Given the description of an element on the screen output the (x, y) to click on. 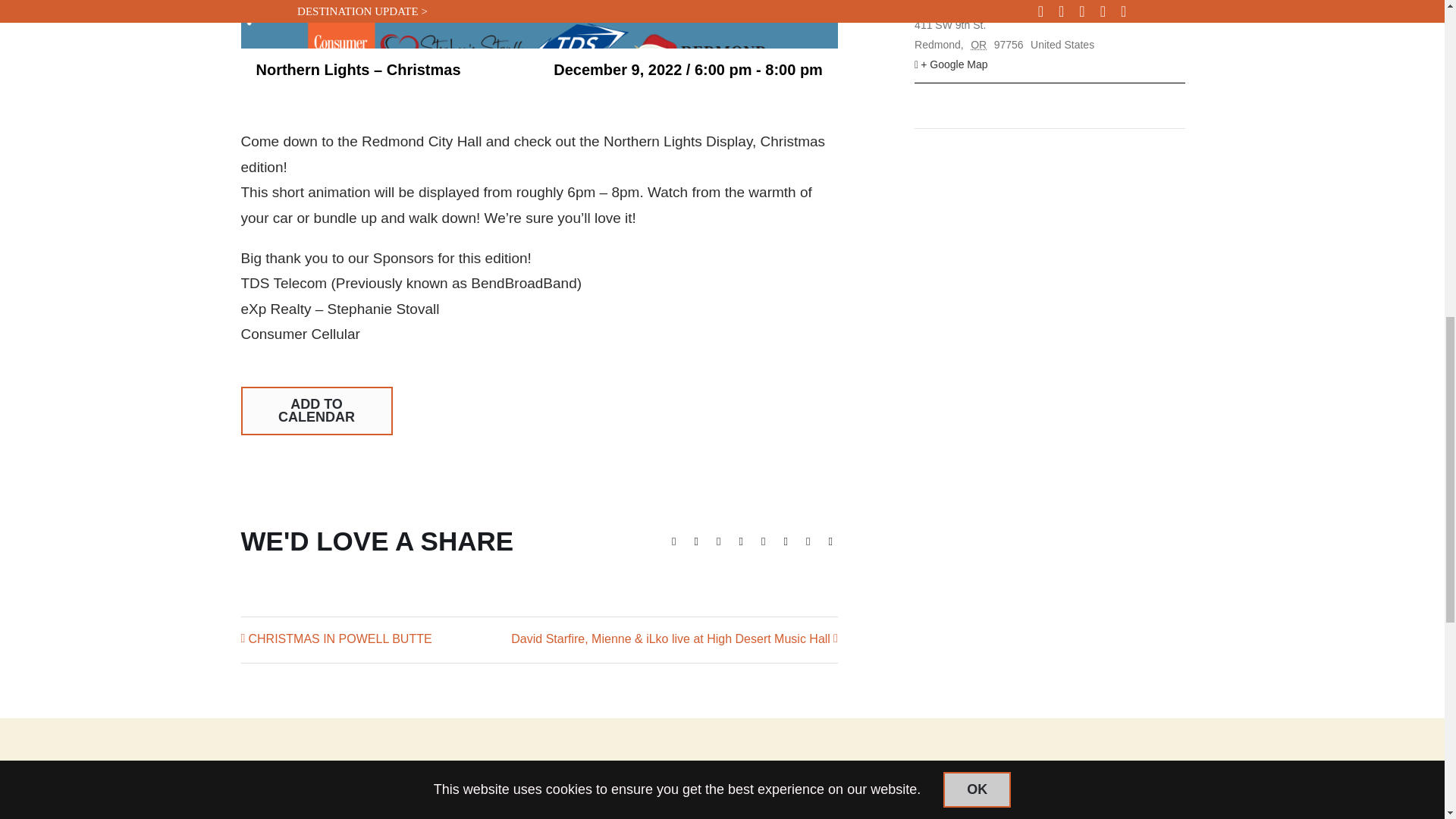
Click to view a Google Map (1049, 64)
Oregon (981, 44)
